Given the description of an element on the screen output the (x, y) to click on. 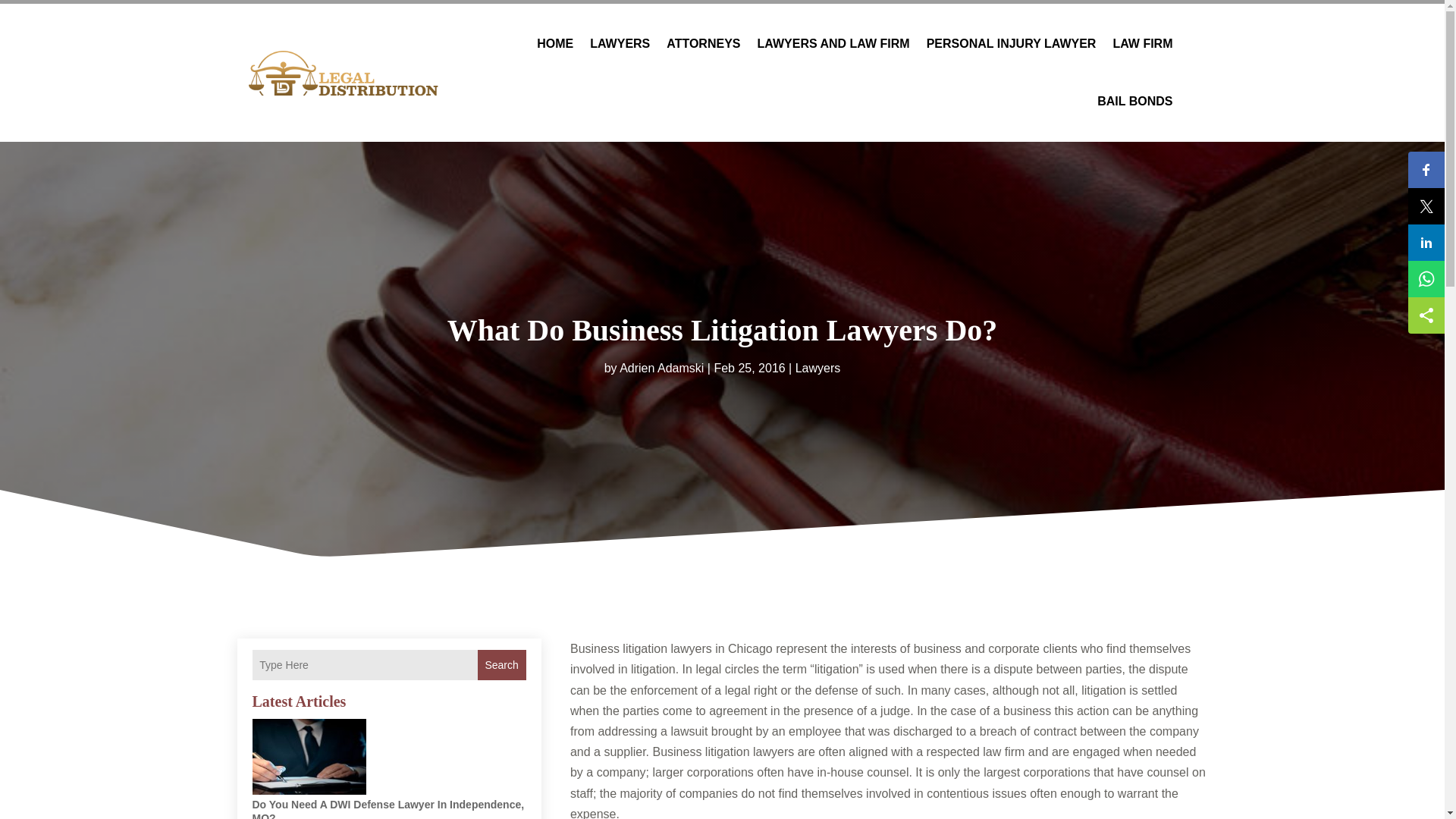
LAW FIRM (1142, 43)
Search (501, 665)
Lawyers (817, 367)
ATTORNEYS (702, 43)
LAWYERS AND LAW FIRM (832, 43)
LAWYERS (619, 43)
Posts by Adrien Adamski (661, 367)
BAIL BONDS (1134, 101)
Adrien Adamski (661, 367)
PERSONAL INJURY LAWYER (1011, 43)
Do You Need A DWI Defense Lawyer In Independence, MO? (387, 808)
